Given the description of an element on the screen output the (x, y) to click on. 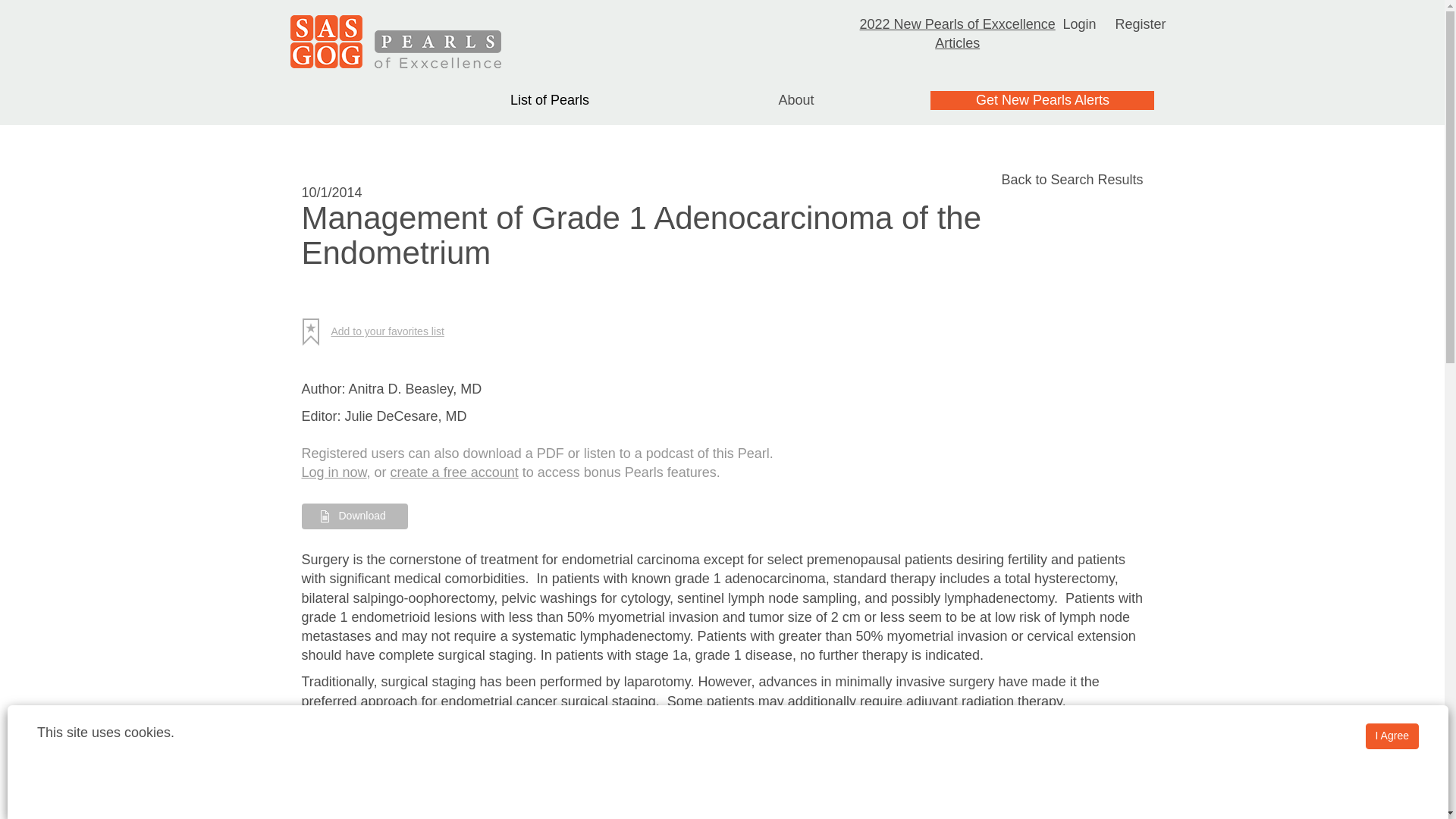
Back to Search Results (1071, 179)
Download (354, 516)
List of Pearls (550, 99)
About (795, 99)
Get New Pearls Alerts (1042, 99)
I Agree (1391, 736)
Log in now (333, 472)
2022 New Pearls of Exxcellence Articles (957, 33)
create a free account (454, 472)
Login (1079, 23)
Register (1140, 23)
Login to Your Account (1079, 23)
Add to your favorites list (377, 331)
